Given the description of an element on the screen output the (x, y) to click on. 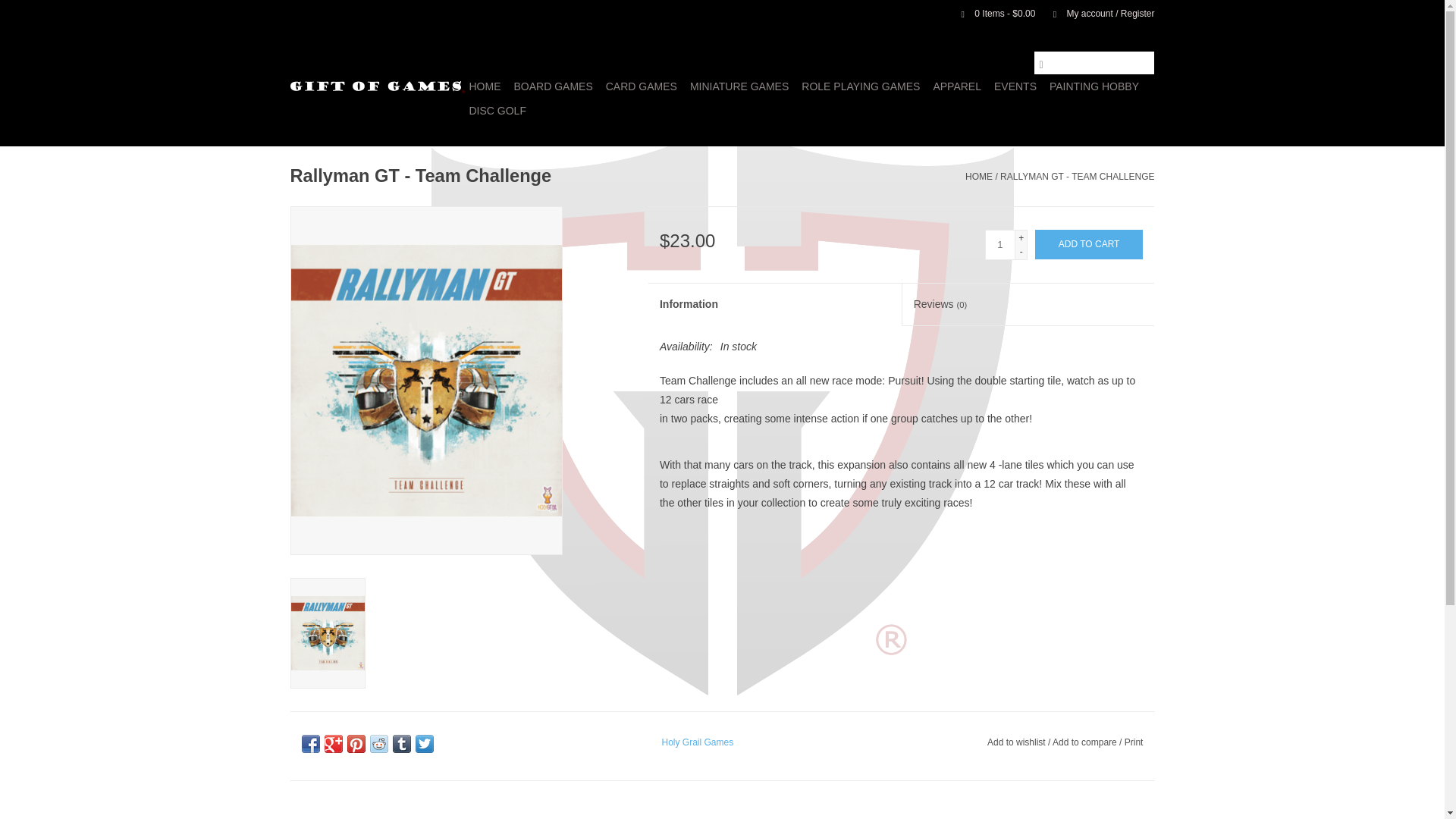
BOARD GAMES (552, 86)
CARD GAMES (641, 86)
Card Games (641, 86)
Gift of Games (376, 86)
HOME (484, 86)
Cart (992, 13)
Board Games (552, 86)
My account (1096, 13)
1 (999, 245)
